Given the description of an element on the screen output the (x, y) to click on. 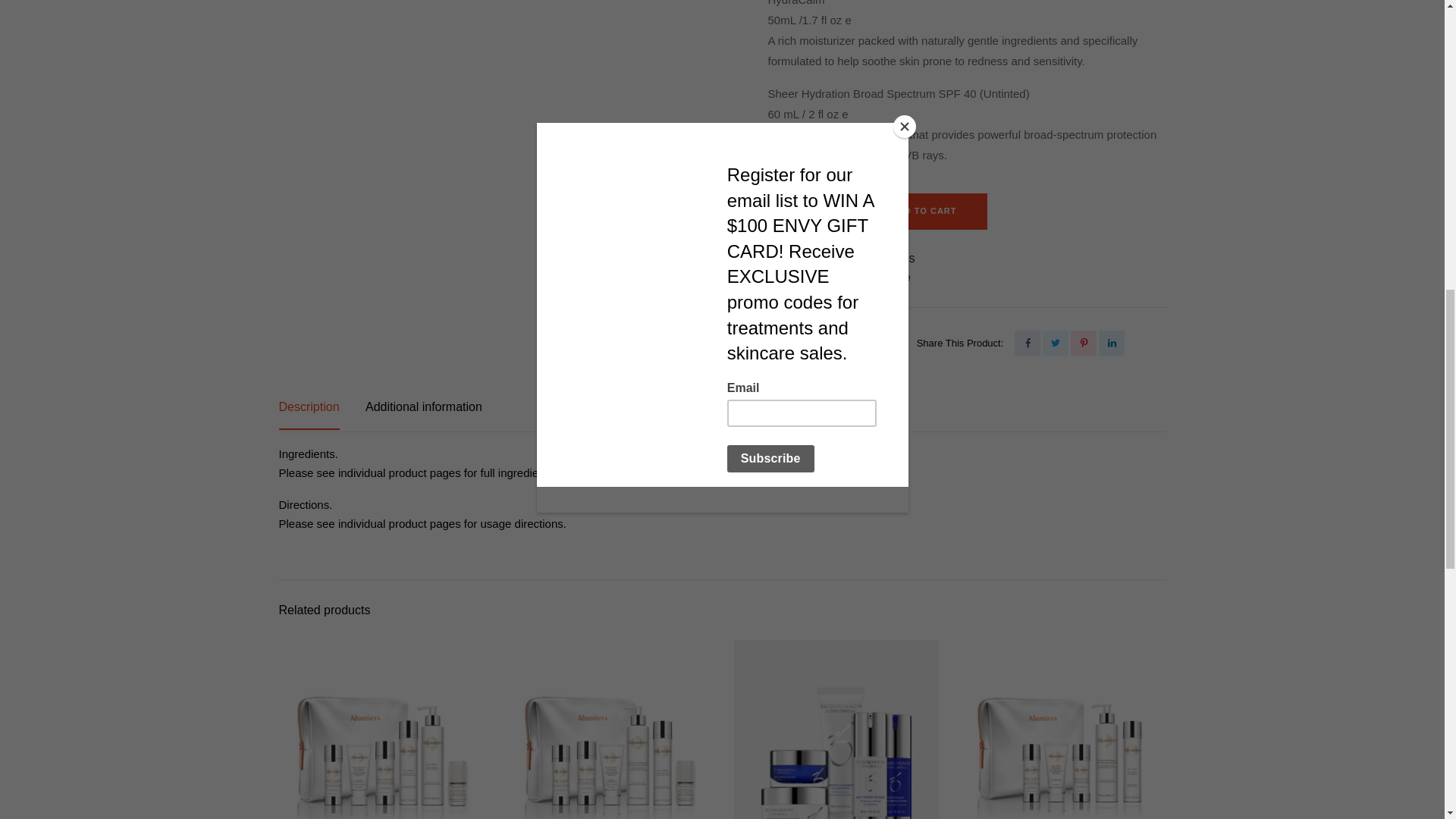
1 (809, 209)
Qty (809, 209)
